Given the description of an element on the screen output the (x, y) to click on. 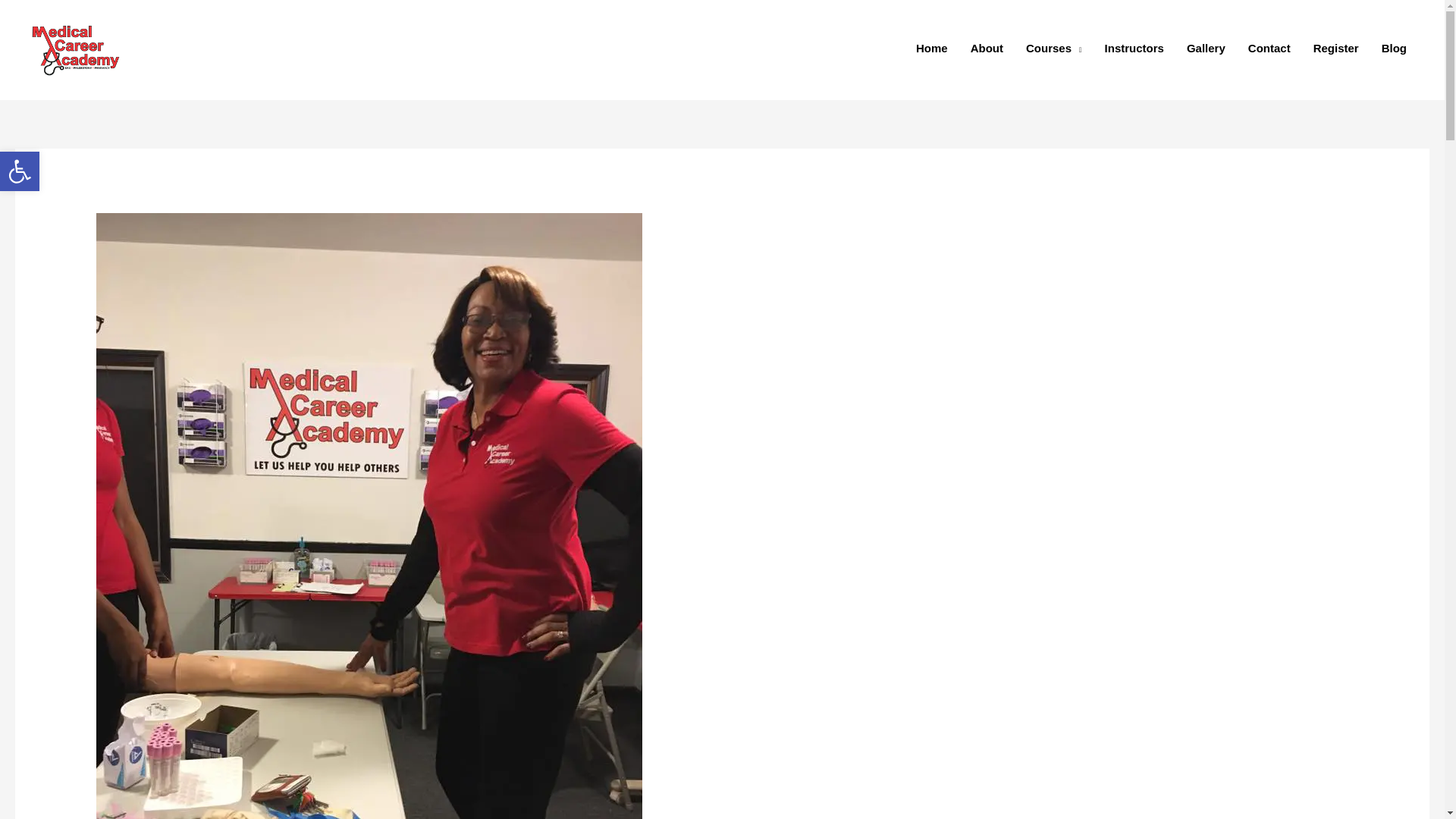
Contact (1268, 48)
About (986, 48)
Gallery (1205, 48)
Accessibility Tools (19, 170)
Blog (19, 170)
Accessibility Tools (1394, 48)
Register (19, 170)
Home (1335, 48)
Instructors (931, 48)
